Given the description of an element on the screen output the (x, y) to click on. 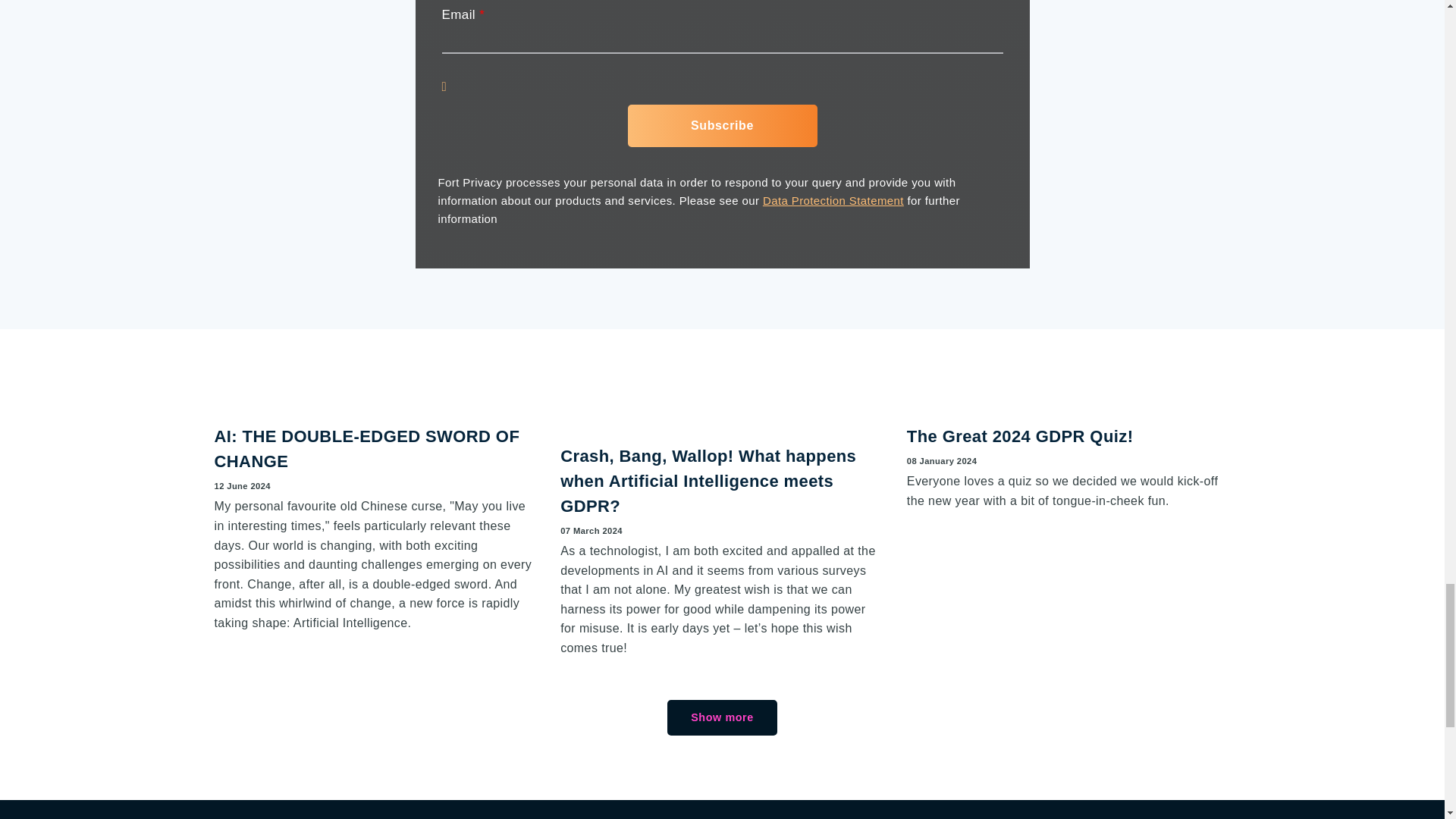
The Great 2024 GDPR Quiz! (1020, 435)
AI: THE DOUBLE-EDGED SWORD OF CHANGE (366, 448)
The Great 2024 GDPR Quiz! (1020, 435)
AI: THE DOUBLE-EDGED SWORD OF CHANGE (376, 399)
Data Protection Statement (833, 200)
Show more (721, 717)
Subscribe (721, 125)
